Given the description of an element on the screen output the (x, y) to click on. 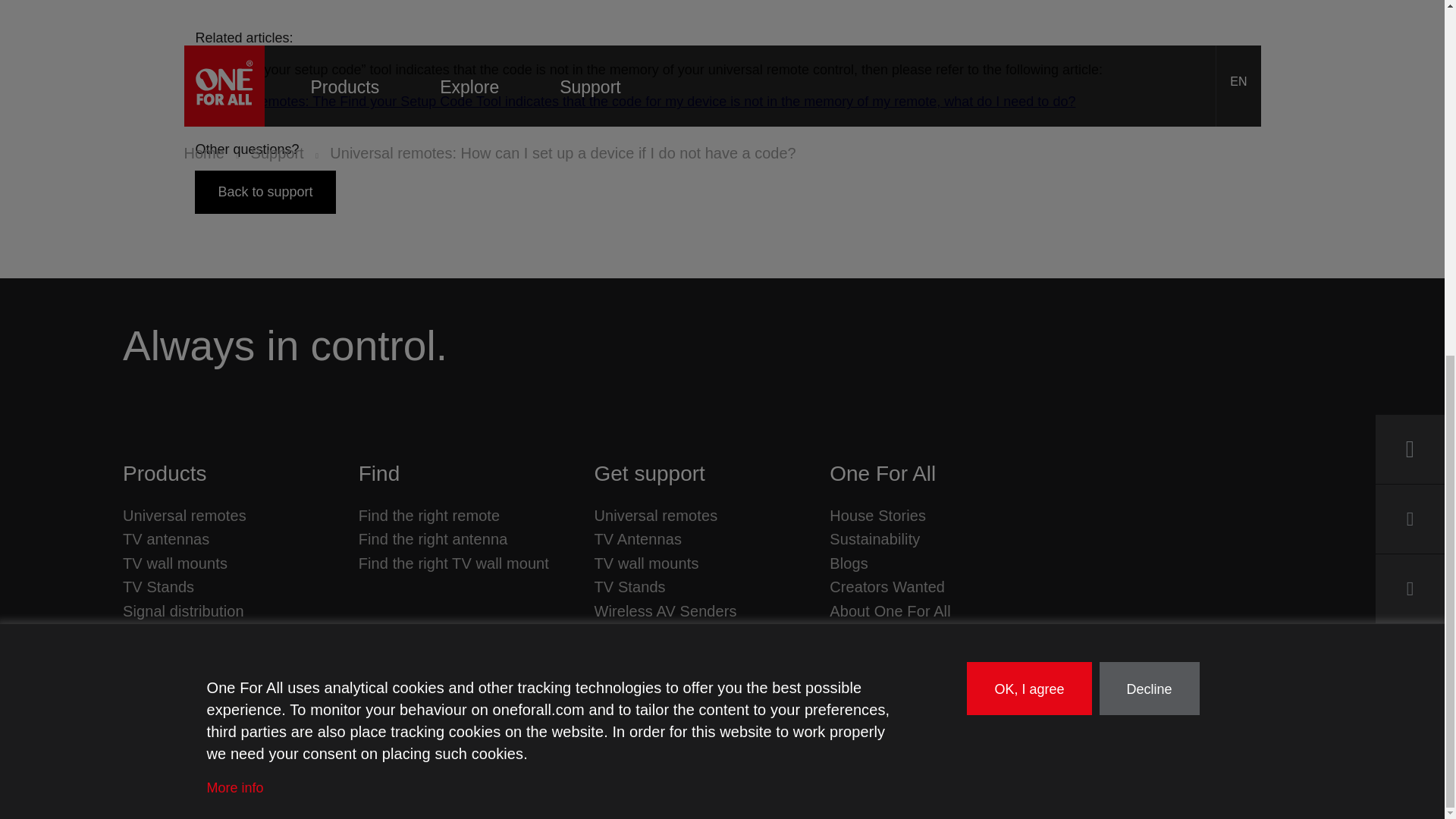
TV antennas (165, 538)
Find the right antenna (433, 538)
Find the right TV wall mount (453, 563)
Find the right remote (429, 515)
TV wall mounts (646, 563)
Wall mounts (174, 563)
Mounting Accessories (196, 635)
Universal remotes (184, 515)
Find the right remote (429, 515)
Visit the support pages for remote controls (655, 515)
